Given the description of an element on the screen output the (x, y) to click on. 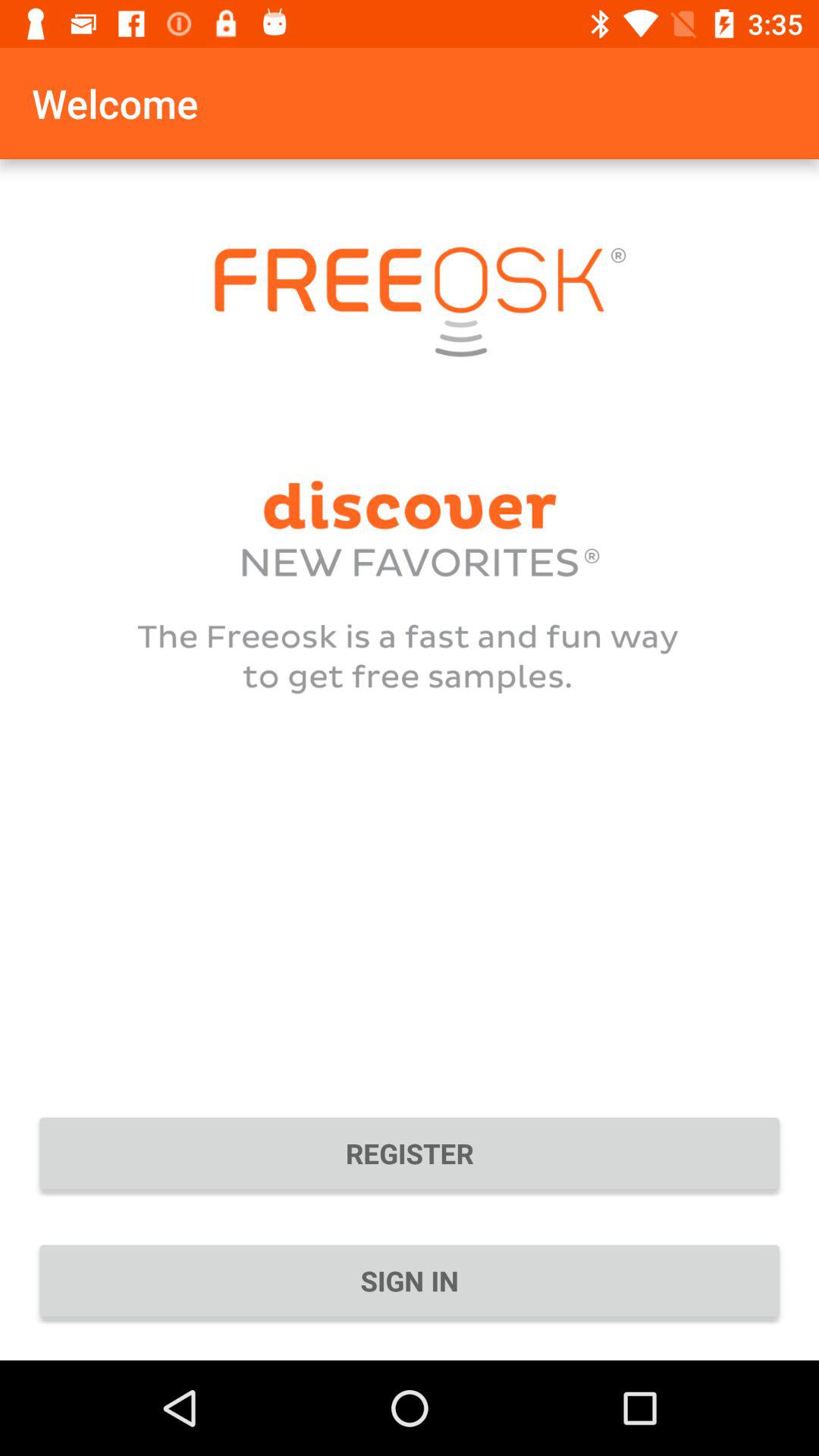
launch the icon above the sign in icon (409, 1153)
